Given the description of an element on the screen output the (x, y) to click on. 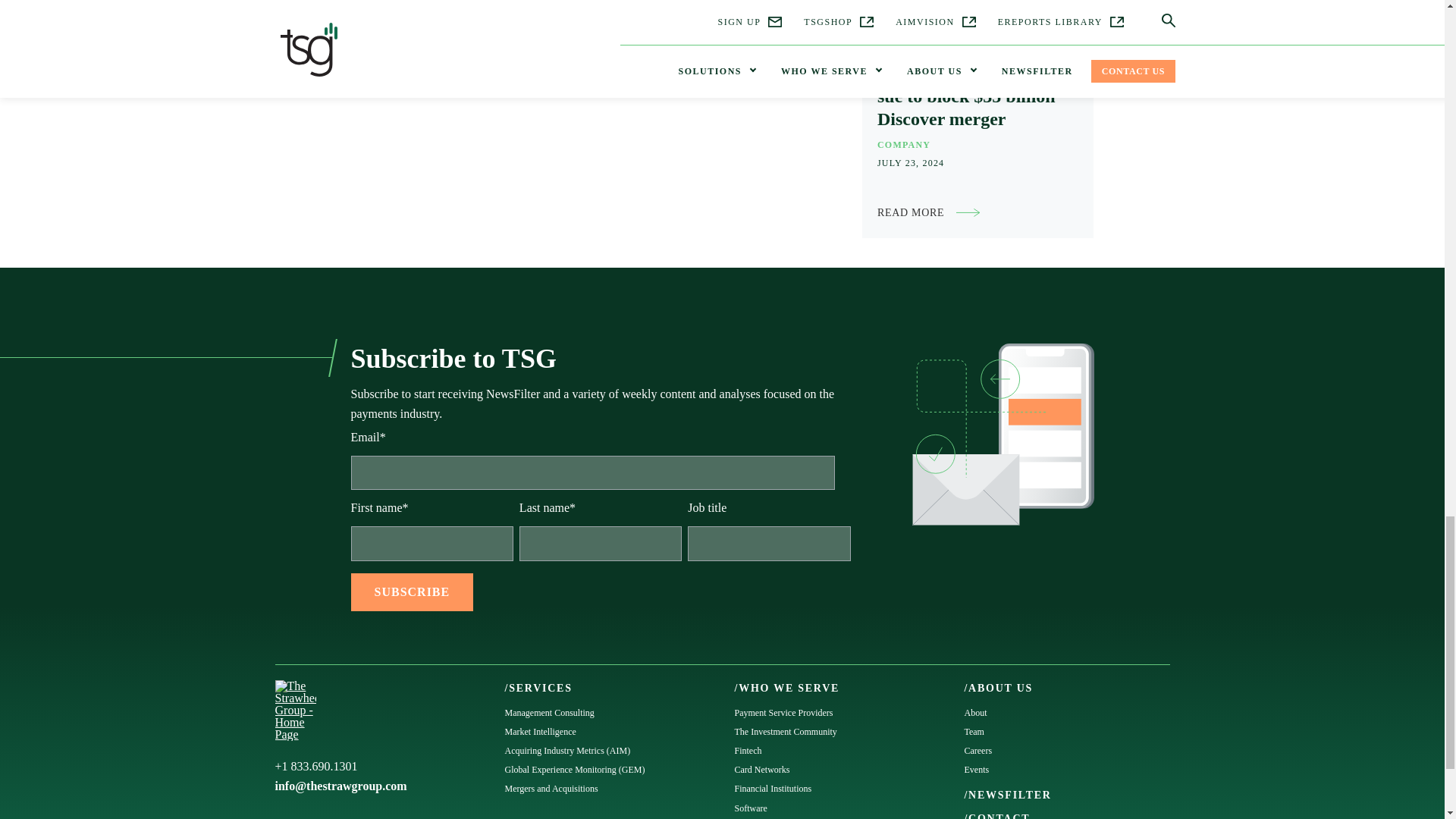
Subscribe (411, 591)
